Given the description of an element on the screen output the (x, y) to click on. 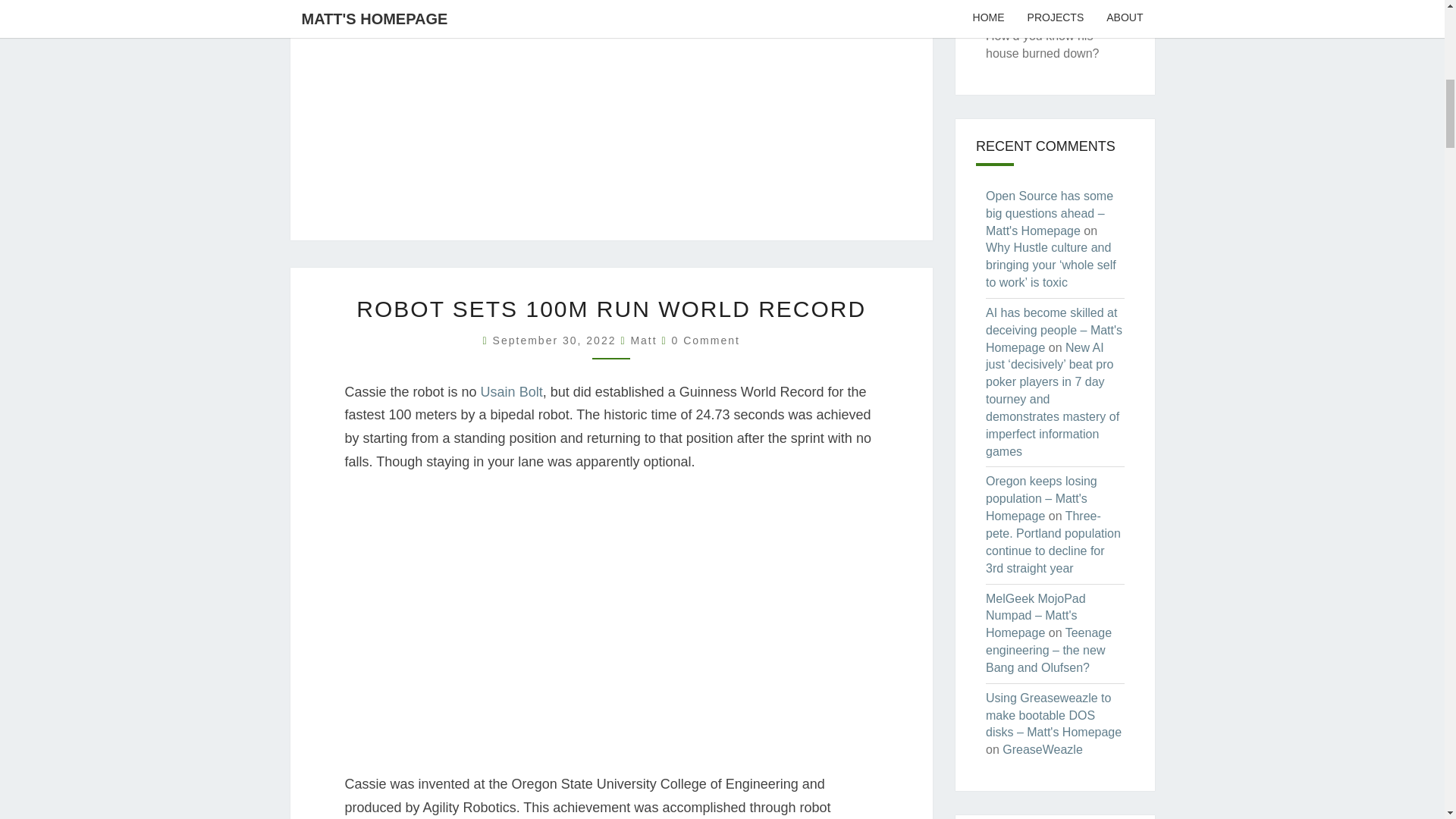
September 30, 2022 (557, 340)
3:47 pm (557, 340)
Usain Bolt (511, 391)
ROBOT SETS 100M RUN WORLD RECORD (611, 308)
0 Comment (705, 340)
Matt (643, 340)
View all posts by matt (643, 340)
